Given the description of an element on the screen output the (x, y) to click on. 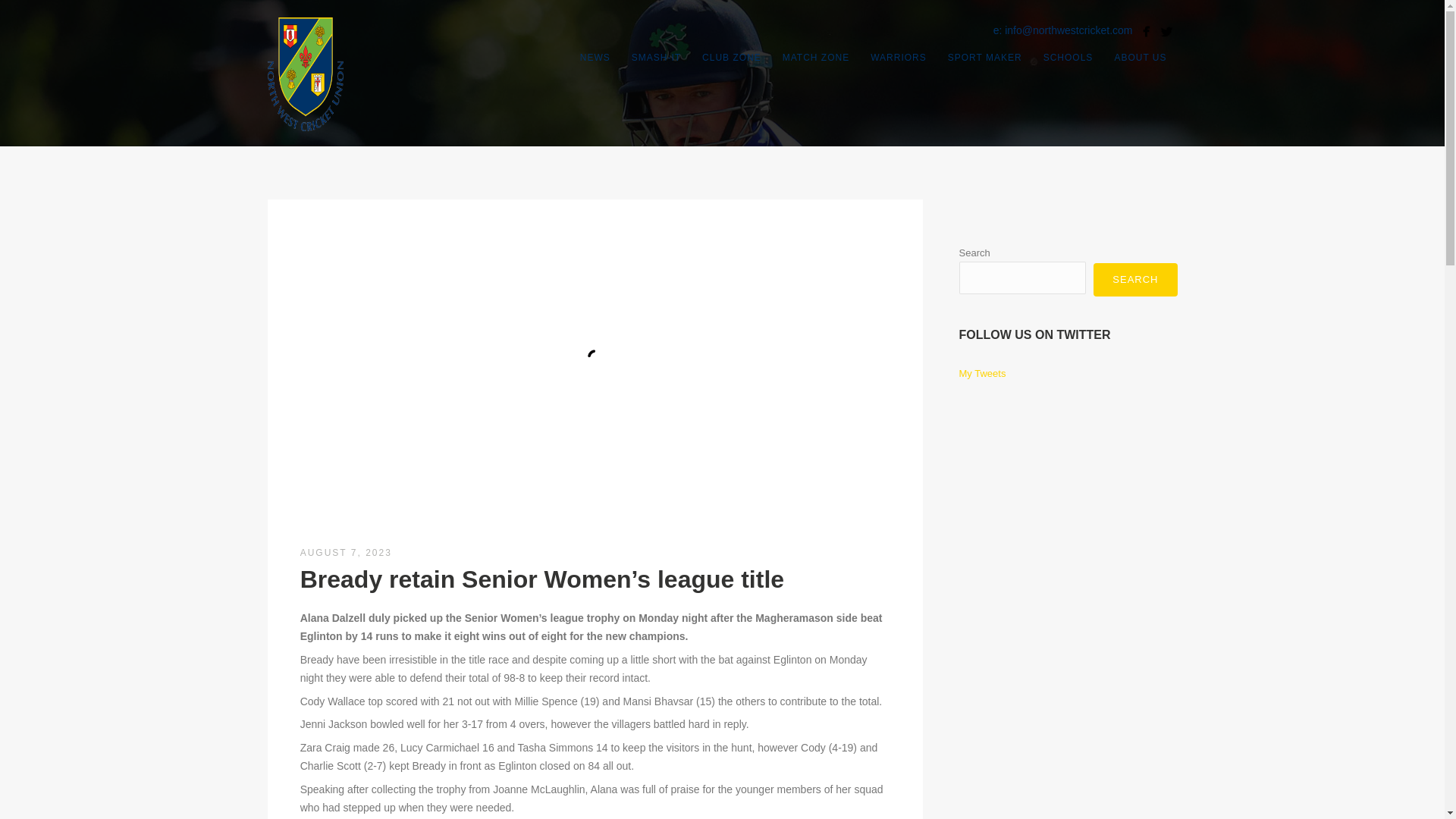
NEWS (595, 57)
CLUB ZONE (731, 57)
Twitter (1166, 31)
Facebook (1144, 31)
SMASH-IT (656, 57)
